Given the description of an element on the screen output the (x, y) to click on. 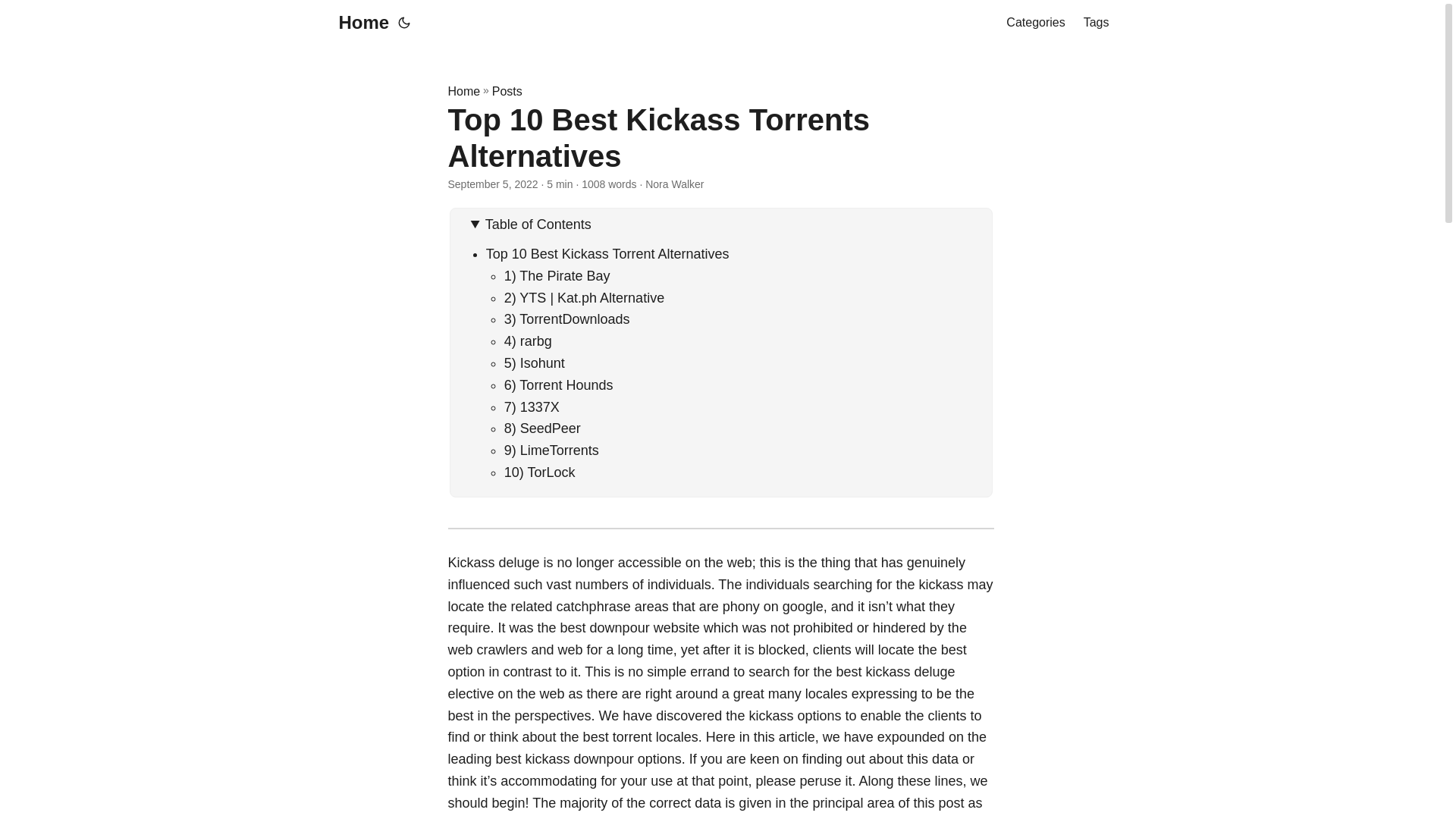
Top 10 Best Kickass Torrent Alternatives (607, 253)
Categories (1035, 22)
Categories (1035, 22)
Home (463, 91)
Posts (507, 91)
Home (359, 22)
